Given the description of an element on the screen output the (x, y) to click on. 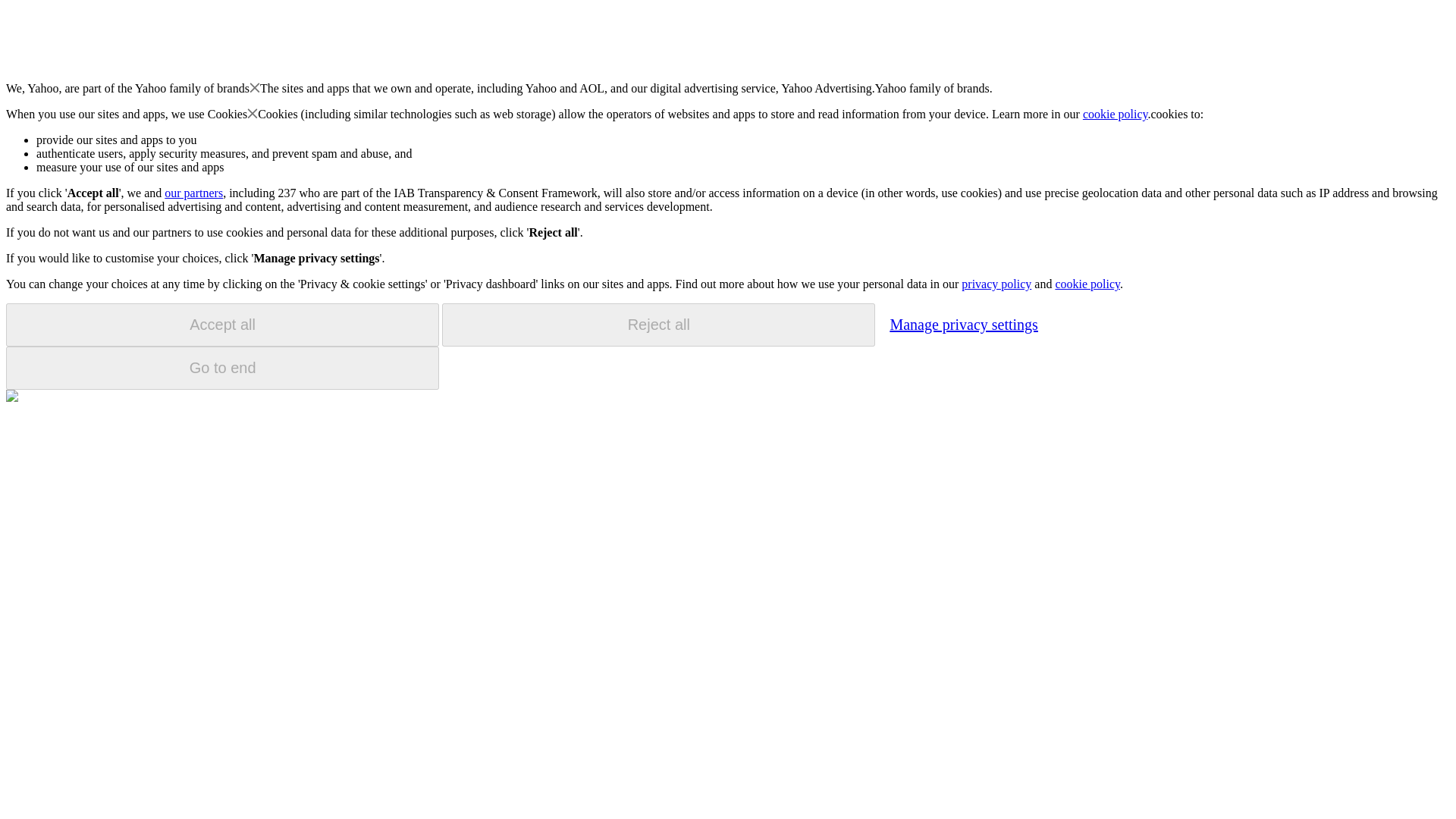
Go to end (222, 367)
cookie policy (1086, 283)
Manage privacy settings (963, 323)
cookie policy (1115, 113)
Accept all (222, 324)
our partners (193, 192)
privacy policy (995, 283)
Reject all (658, 324)
